Given the description of an element on the screen output the (x, y) to click on. 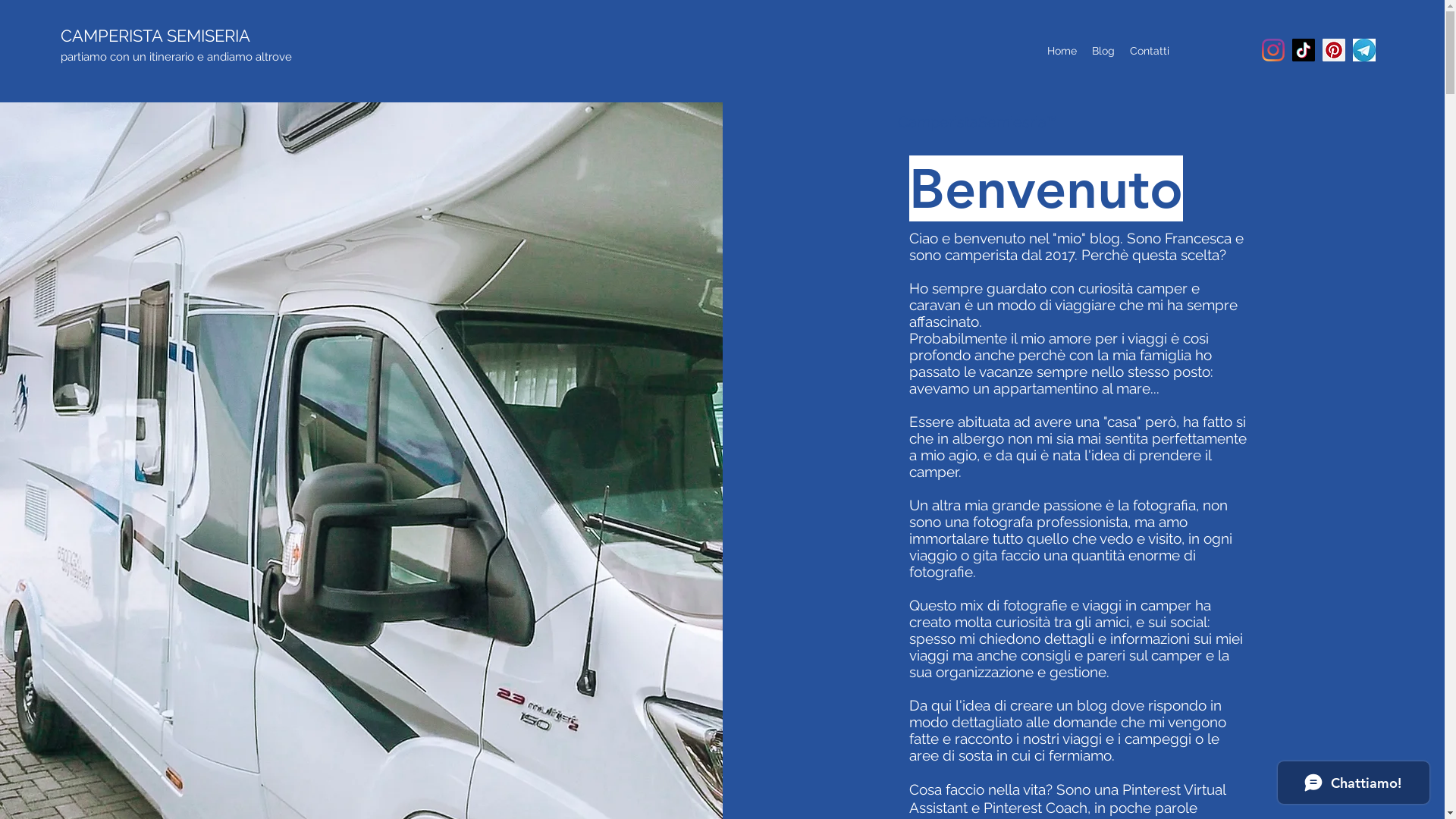
Home Element type: text (1061, 50)
CAMPERISTA SEMISERIA Element type: text (155, 35)
Contatti Element type: text (1149, 50)
Blog Element type: text (1103, 50)
